Given the description of an element on the screen output the (x, y) to click on. 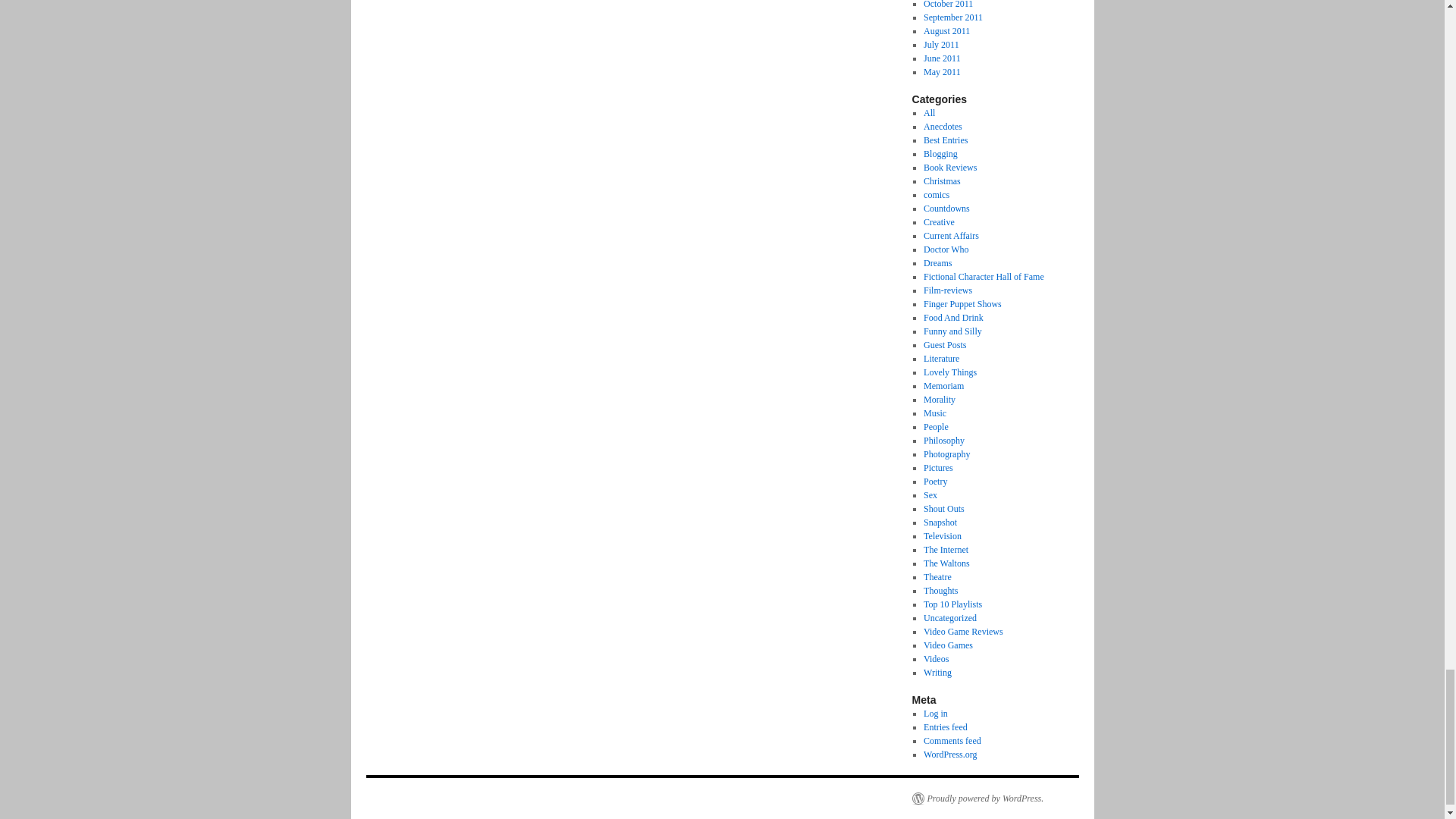
Semantic Personal Publishing Platform (977, 798)
